Given the description of an element on the screen output the (x, y) to click on. 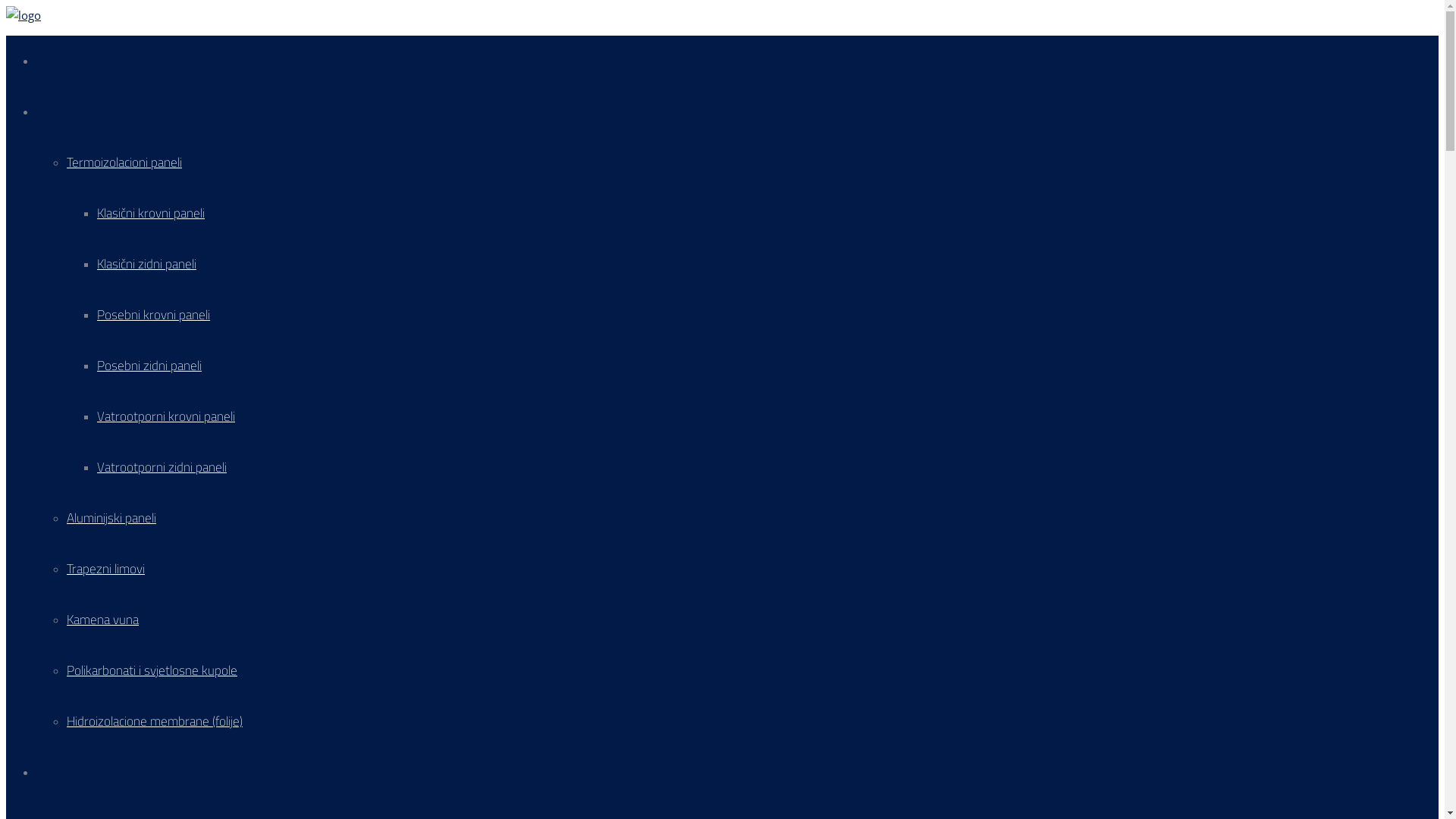
Posebni krovni paneli Element type: text (153, 314)
Trapezni limovi Element type: text (105, 568)
Hidroizolacione membrane (folije) Element type: text (154, 721)
Reference Element type: text (63, 771)
Vatrootporni krovni paneli Element type: text (166, 416)
Posebni zidni paneli Element type: text (149, 365)
Termoizolacioni paneli Element type: text (124, 162)
Vatrootporni zidni paneli Element type: text (161, 466)
Proizvodi Element type: text (60, 111)
Aluminijski paneli Element type: text (111, 517)
Polikarbonati i svjetlosne kupole Element type: text (151, 670)
Kamena vuna Element type: text (102, 619)
